Given the description of an element on the screen output the (x, y) to click on. 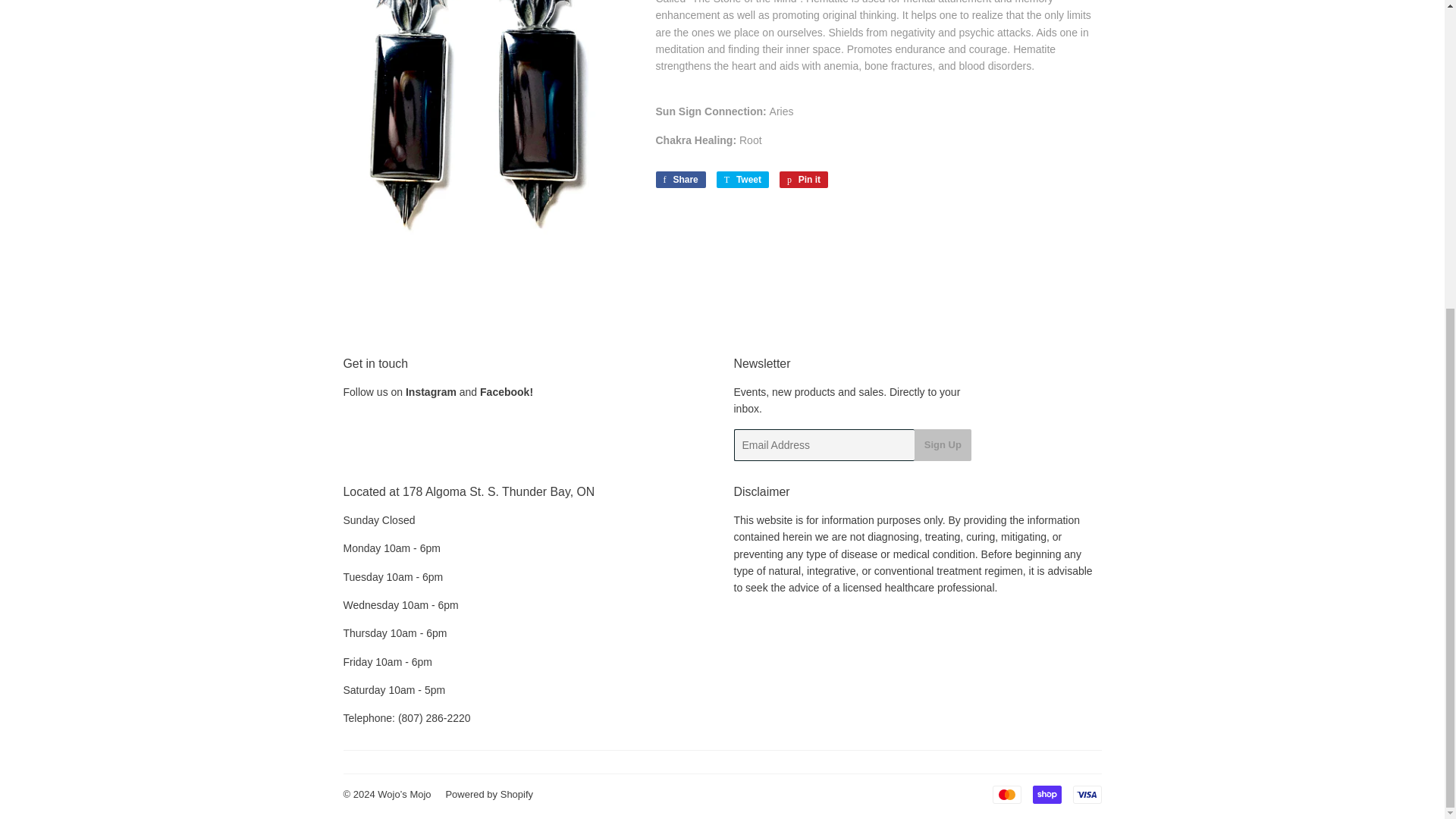
Mastercard (1005, 794)
Tweet on Twitter (742, 179)
Pin on Pinterest (803, 179)
Share on Facebook (679, 179)
Visa (1085, 794)
tel:8072862220 (433, 717)
Shop Pay (1046, 794)
